Given the description of an element on the screen output the (x, y) to click on. 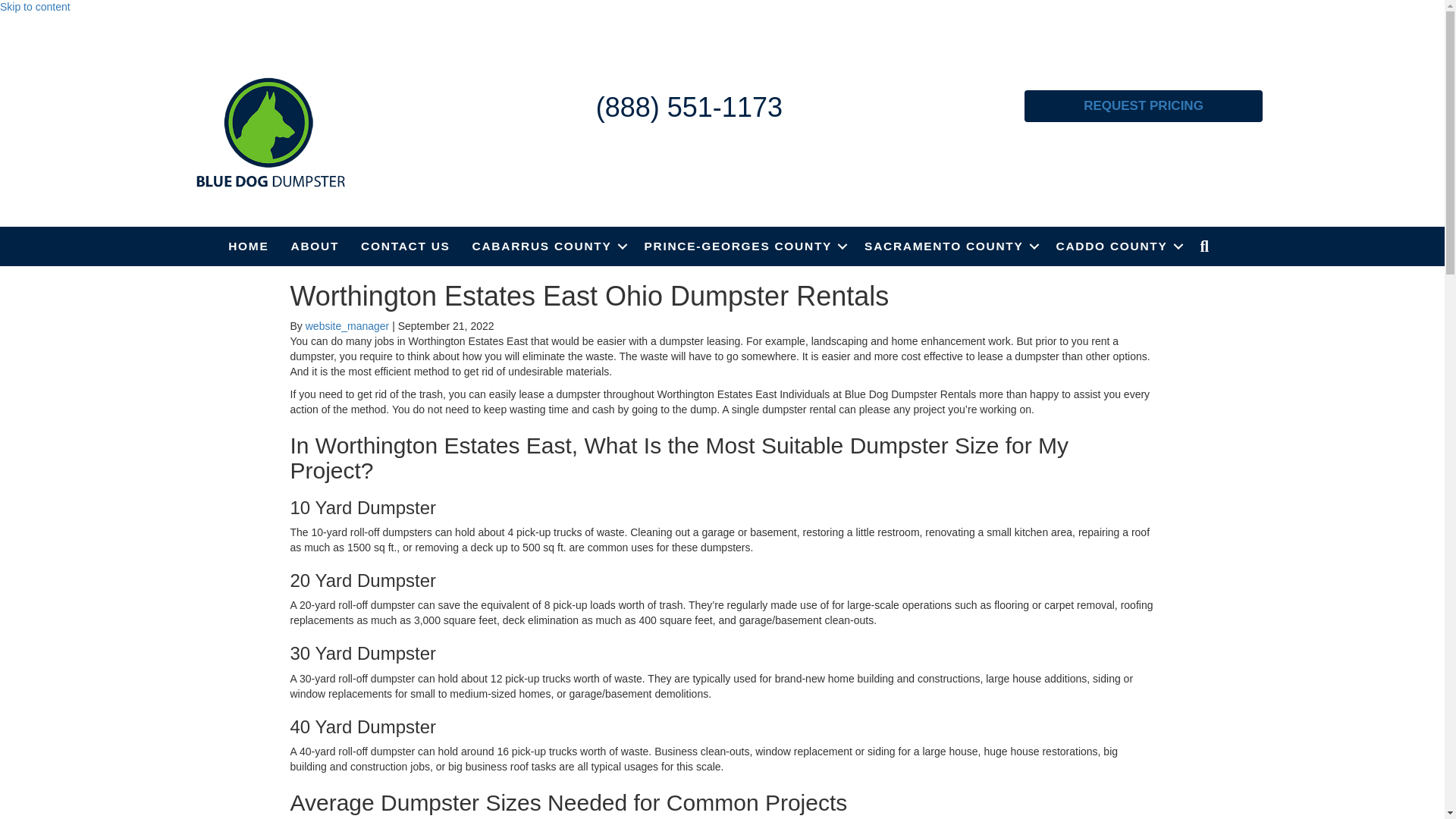
HOME (247, 246)
ABOUT (315, 246)
bluedogdumpster (269, 131)
CONTACT US (405, 246)
REQUEST PRICING (1144, 106)
CABARRUS COUNTY (547, 246)
SACRAMENTO COUNTY (948, 246)
PRINCE-GEORGES COUNTY (743, 246)
Skip to content (34, 6)
